Given the description of an element on the screen output the (x, y) to click on. 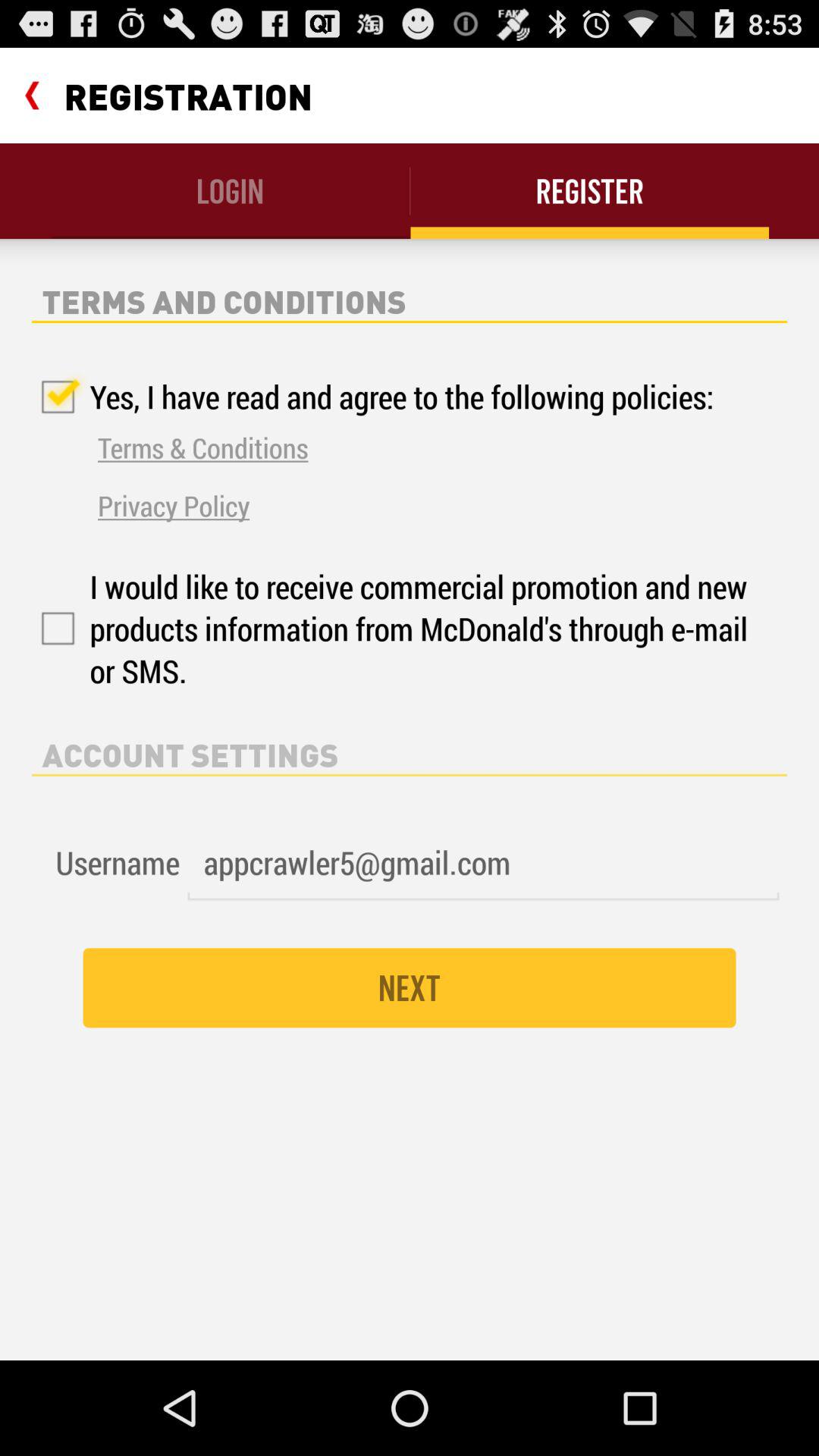
jump until the appcrawler5@gmail.com (483, 863)
